Given the description of an element on the screen output the (x, y) to click on. 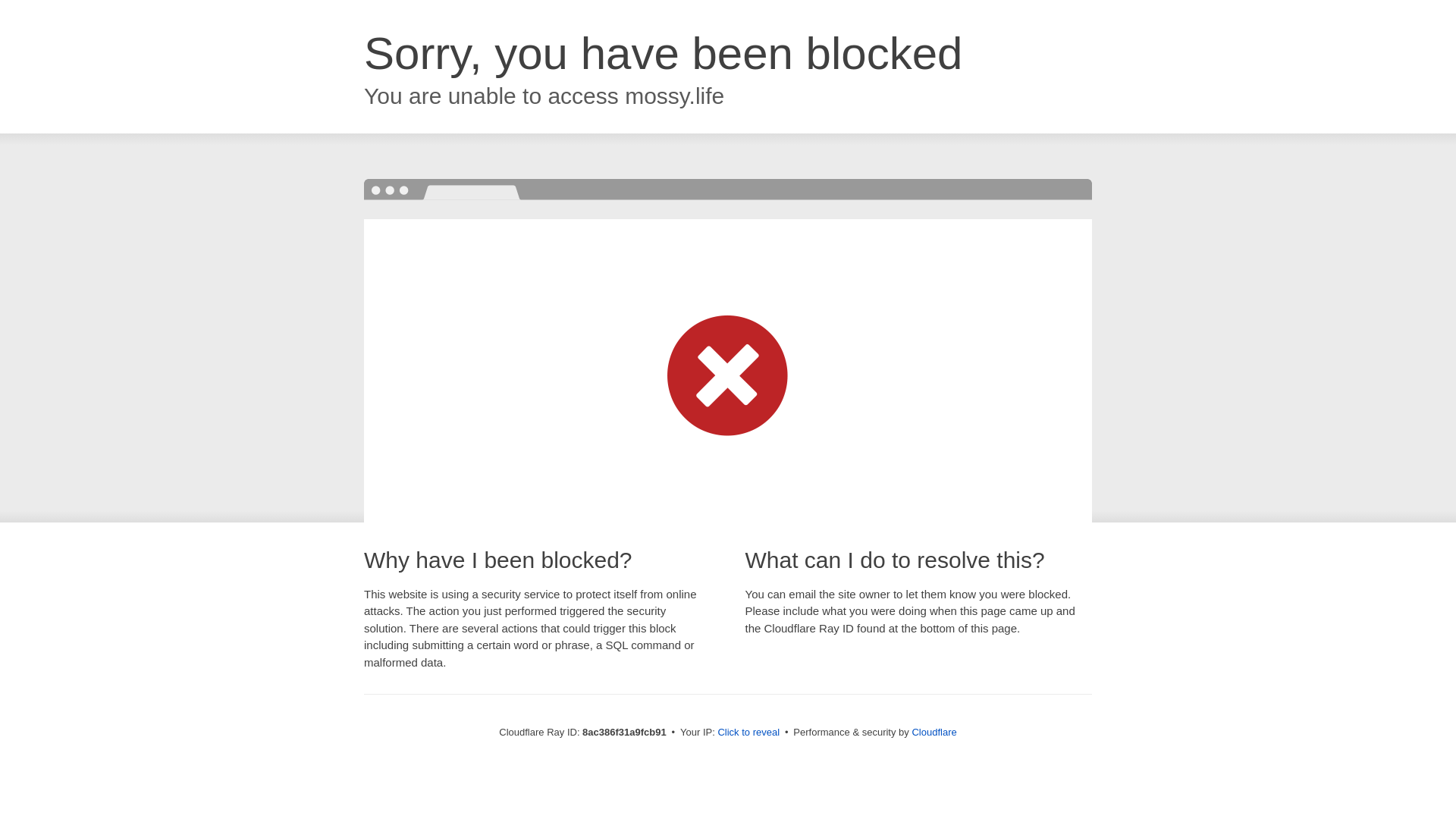
Cloudflare (933, 731)
Click to reveal (747, 732)
